Given the description of an element on the screen output the (x, y) to click on. 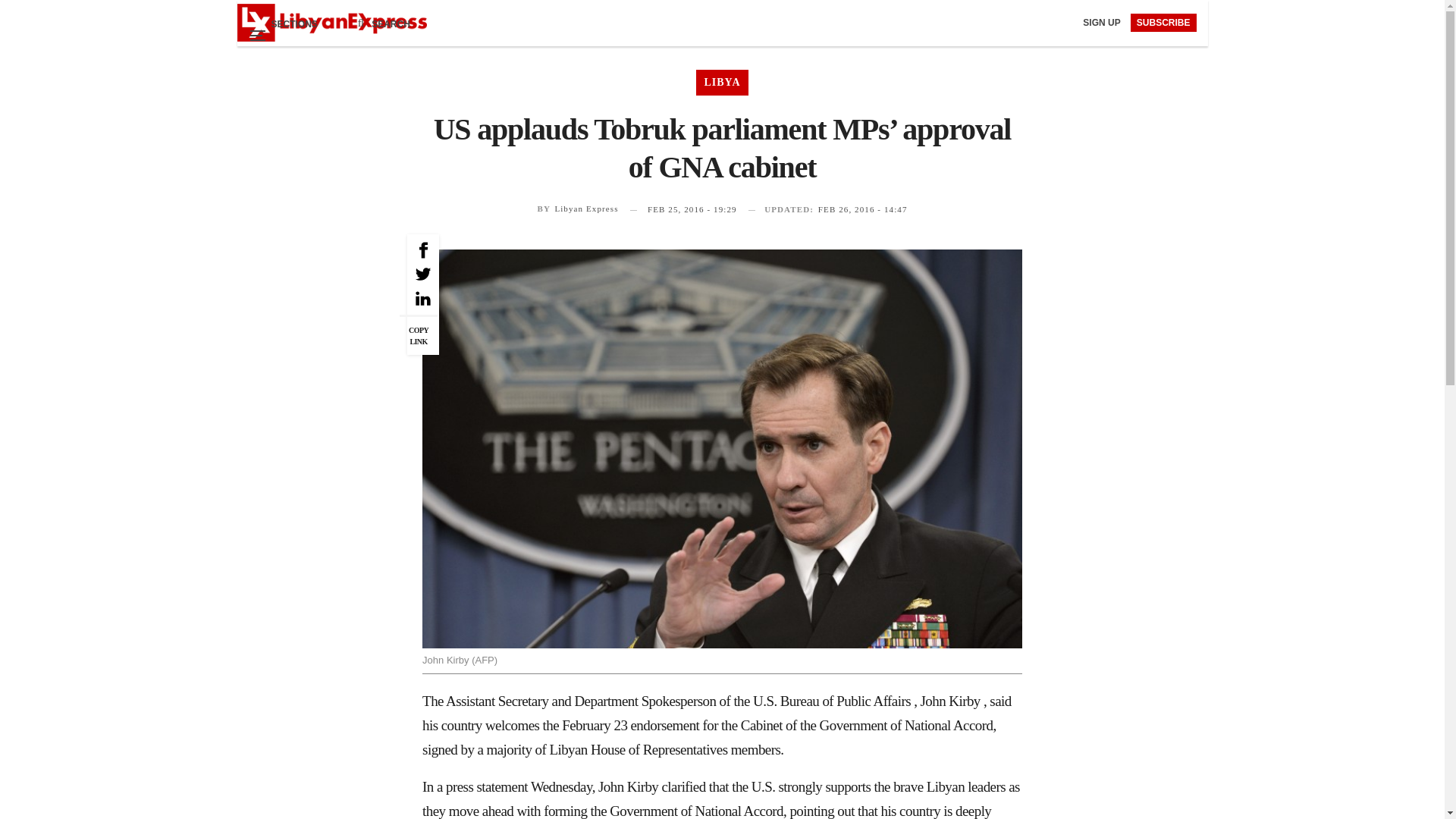
BY Libyan Express (577, 208)
SUBSCRIBE (1163, 22)
LIBYA (721, 82)
SIGN UP (1102, 22)
